Given the description of an element on the screen output the (x, y) to click on. 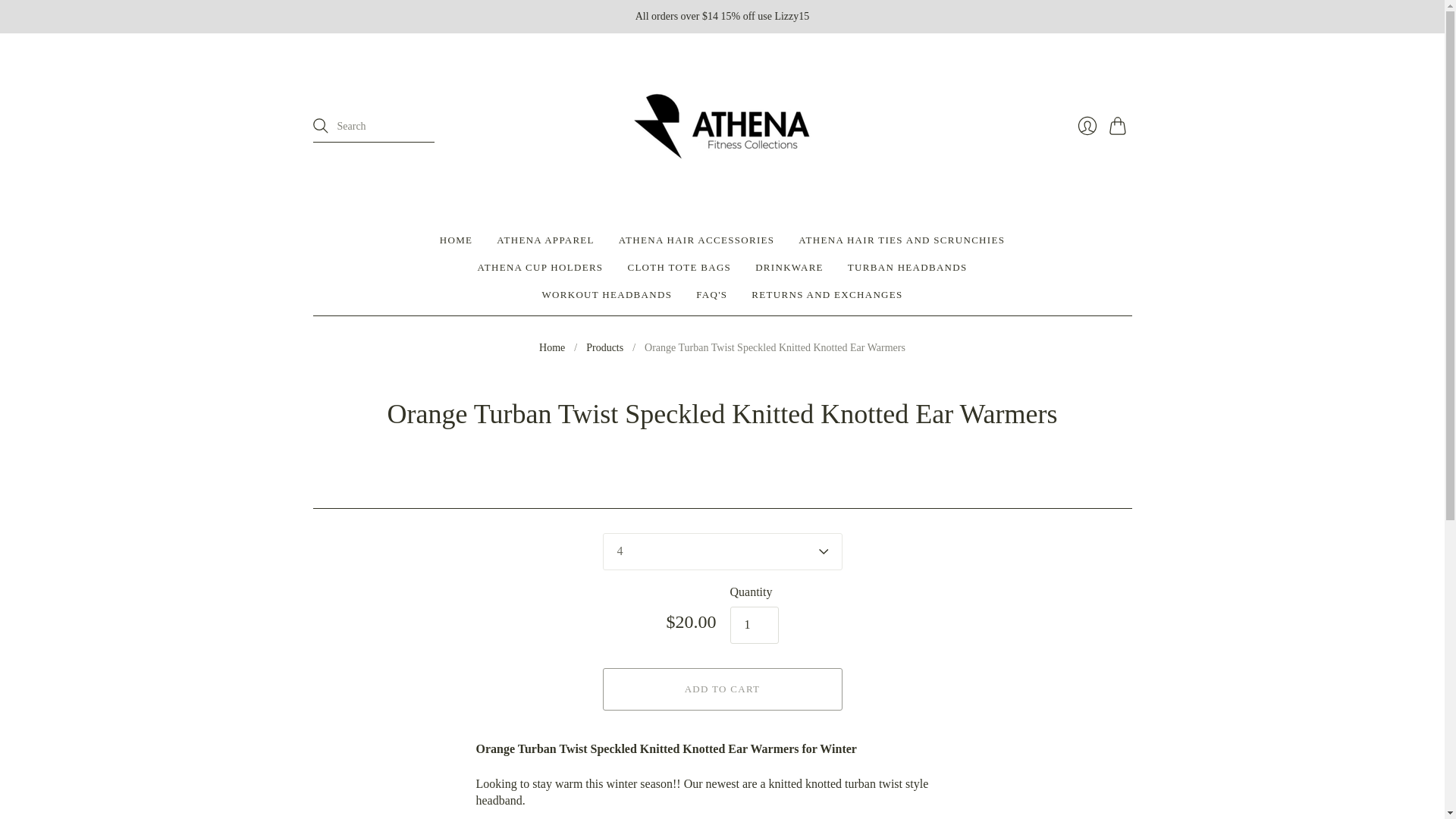
DRINKWARE (789, 267)
Cart (1119, 125)
ATHENA HAIR TIES AND SCRUNCHIES (900, 239)
1 (753, 624)
RETURNS AND EXCHANGES (826, 294)
Login (1086, 125)
Home (551, 347)
TURBAN HEADBANDS (907, 267)
CLOTH TOTE BAGS (678, 267)
ADD TO CART (721, 688)
